Given the description of an element on the screen output the (x, y) to click on. 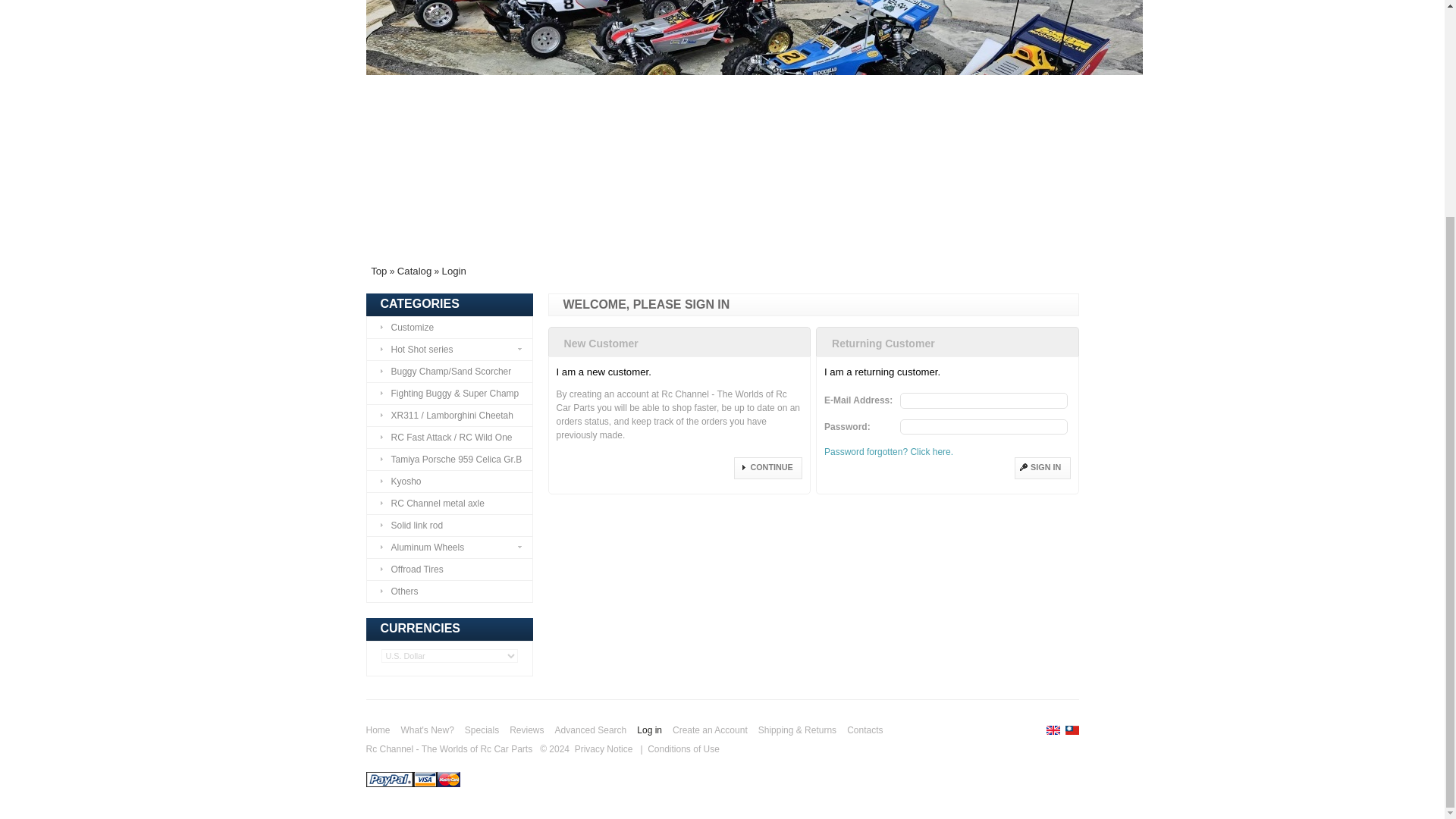
CONTINUE (767, 467)
Create an Account (709, 732)
Top (379, 271)
Aluminum Wheels (449, 547)
Customize (449, 327)
Password forgotten? Click here. (888, 451)
Kyosho (449, 481)
Specials (481, 732)
 English  (1052, 729)
